Given the description of an element on the screen output the (x, y) to click on. 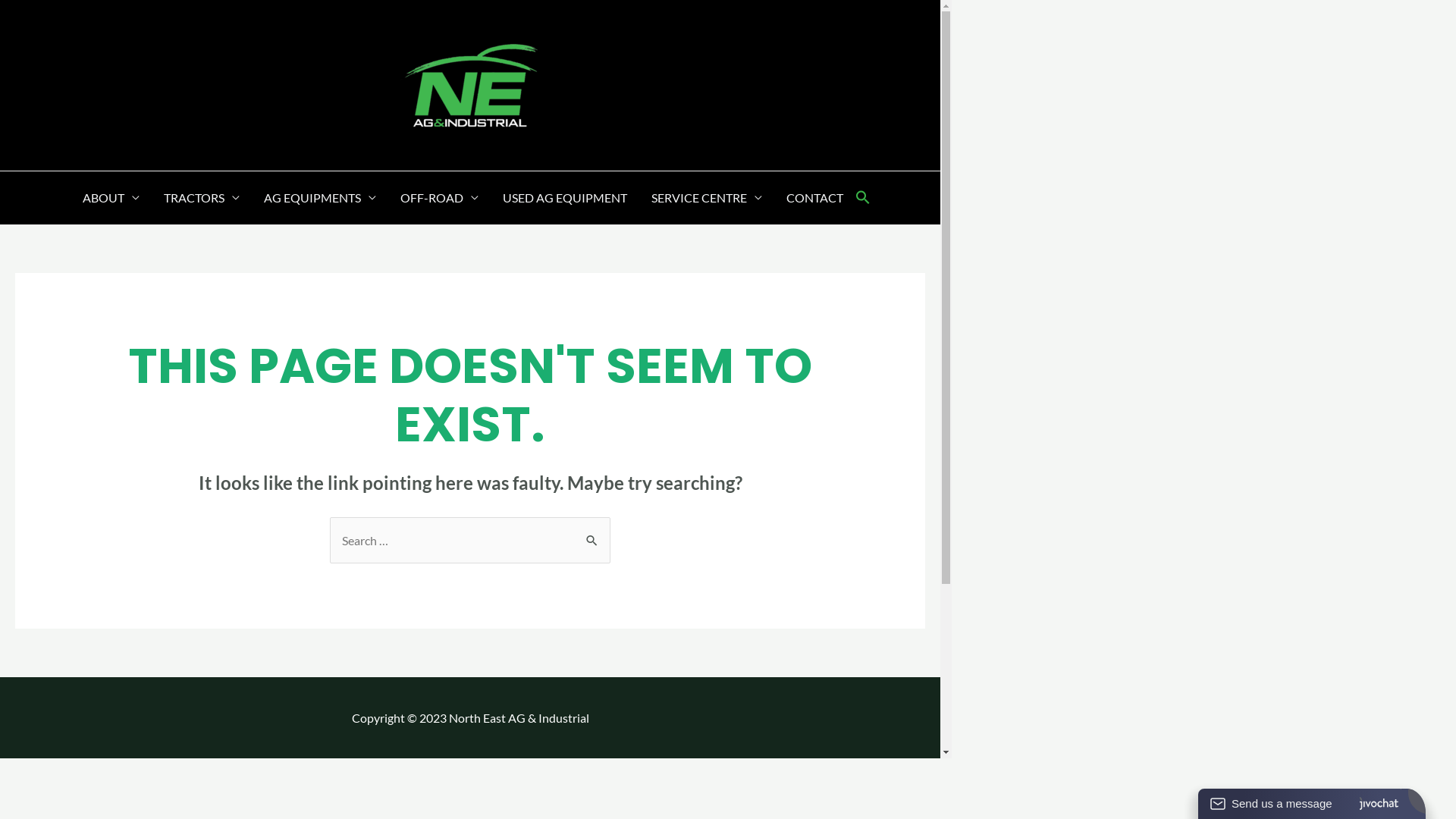
USED AG EQUIPMENT Element type: text (563, 197)
ABOUT Element type: text (109, 197)
AG EQUIPMENTS Element type: text (319, 197)
OFF-ROAD Element type: text (439, 197)
TRACTORS Element type: text (201, 197)
Search Element type: text (593, 532)
CONTACT Element type: text (813, 197)
SERVICE CENTRE Element type: text (705, 197)
